Given the description of an element on the screen output the (x, y) to click on. 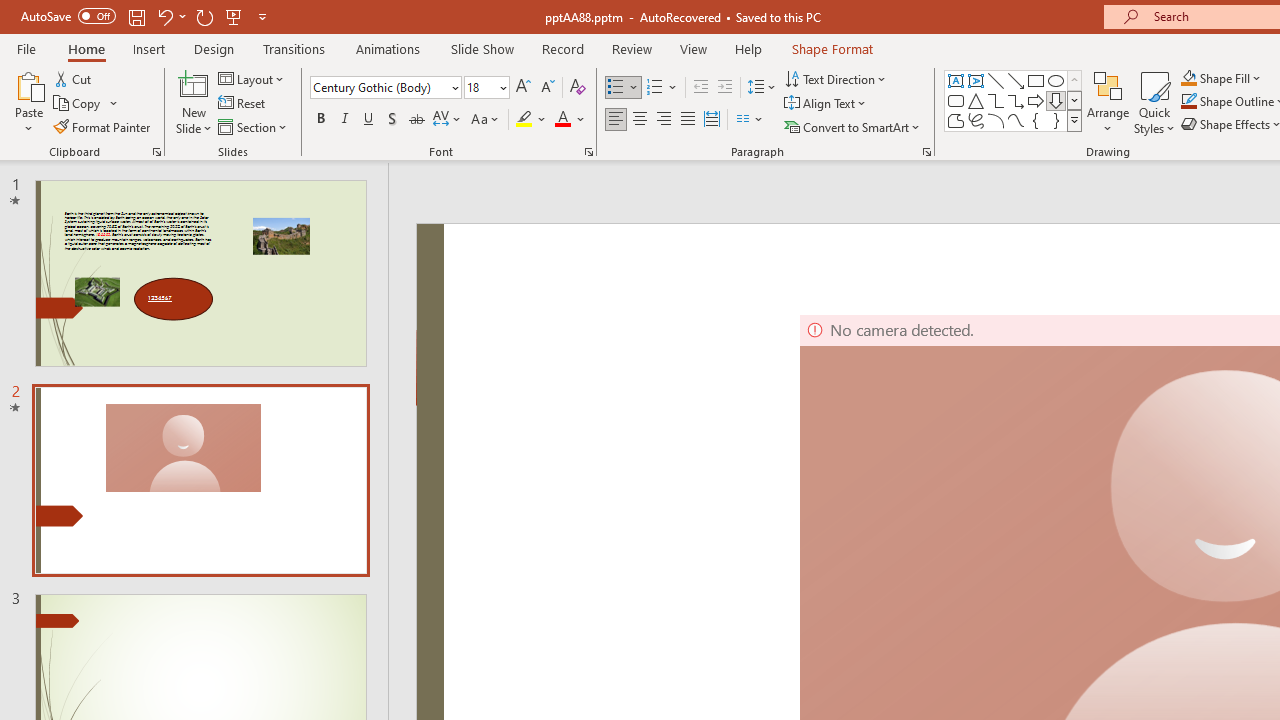
Row up (1074, 79)
Change Case (486, 119)
Help (748, 48)
Arrange (1108, 102)
Underline (369, 119)
Shape Fill Aqua, Accent 2 (1188, 78)
System (10, 11)
Curve (1016, 120)
Decrease Font Size (547, 87)
Layout (252, 78)
Arrow: Right (1035, 100)
Shape Format (832, 48)
Shape Outline Teal, Accent 1 (1188, 101)
Font Size (480, 87)
